Given the description of an element on the screen output the (x, y) to click on. 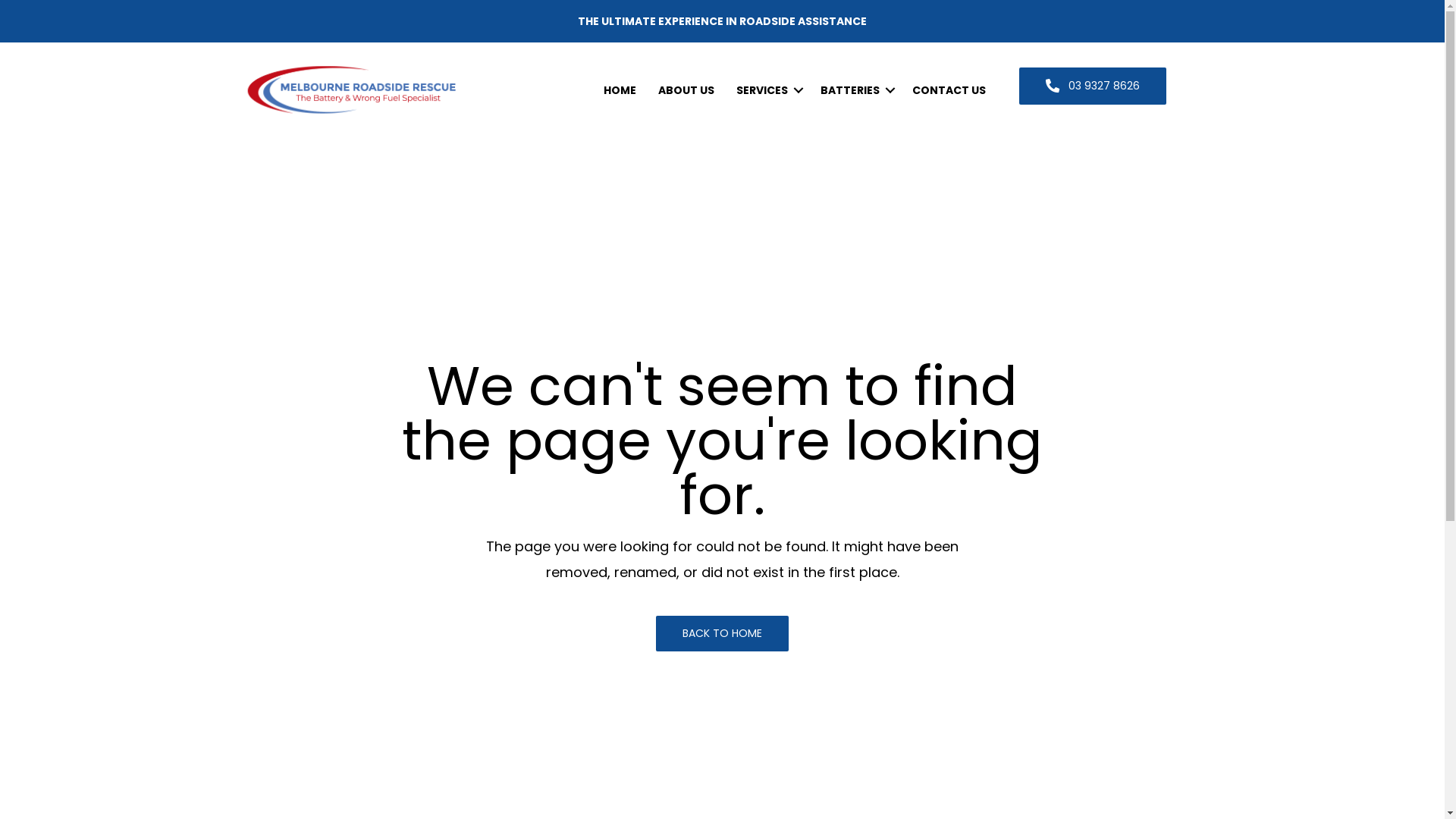
HOME Element type: text (619, 90)
ABOUT US Element type: text (685, 90)
03 9327 8626 Element type: text (1092, 85)
SERVICES Element type: text (767, 90)
BATTERIES Element type: text (854, 90)
BACK TO HOME Element type: text (721, 633)
CONTACT US Element type: text (948, 90)
